Given the description of an element on the screen output the (x, y) to click on. 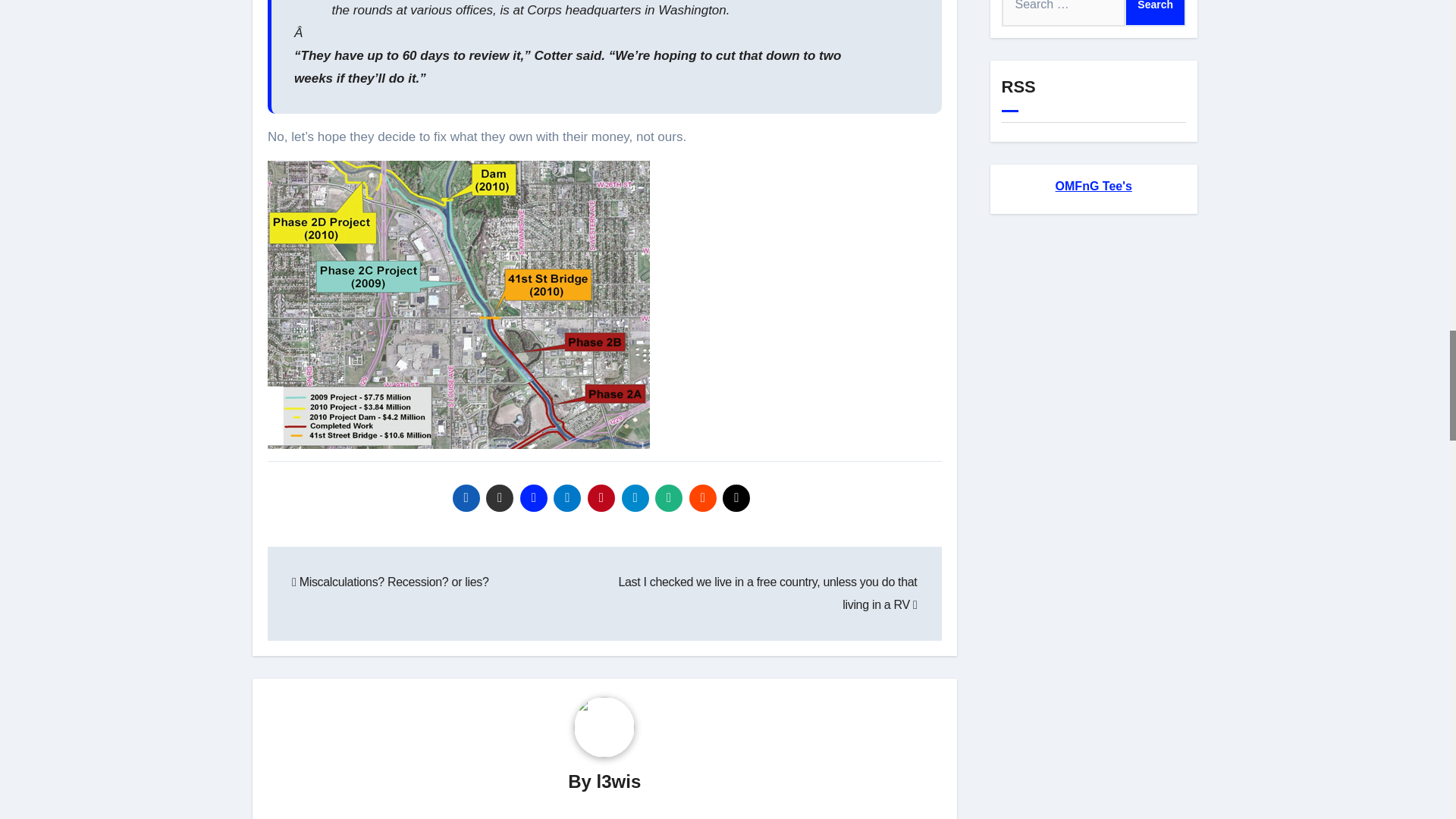
l3wis (619, 781)
Search (1155, 13)
Miscalculations? Recession? or lies? (390, 581)
Search (1155, 13)
Untitled-1 (458, 304)
